Given the description of an element on the screen output the (x, y) to click on. 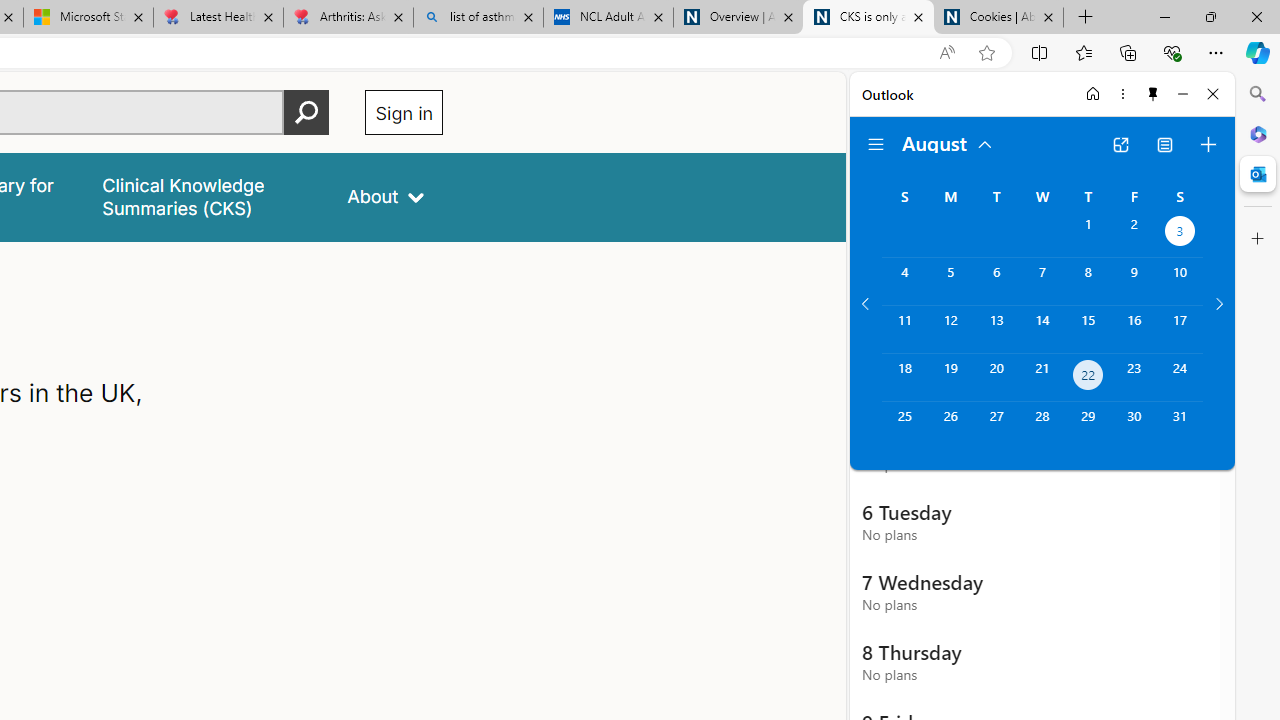
Saturday, August 24, 2024.  (1180, 377)
Friday, August 2, 2024.  (1134, 233)
Monday, August 12, 2024.  (950, 329)
Tuesday, August 6, 2024.  (996, 281)
Friday, August 23, 2024.  (1134, 377)
Saturday, August 10, 2024.  (1180, 281)
About (386, 196)
Monday, August 5, 2024.  (950, 281)
Thursday, August 1, 2024.  (1088, 233)
